Given the description of an element on the screen output the (x, y) to click on. 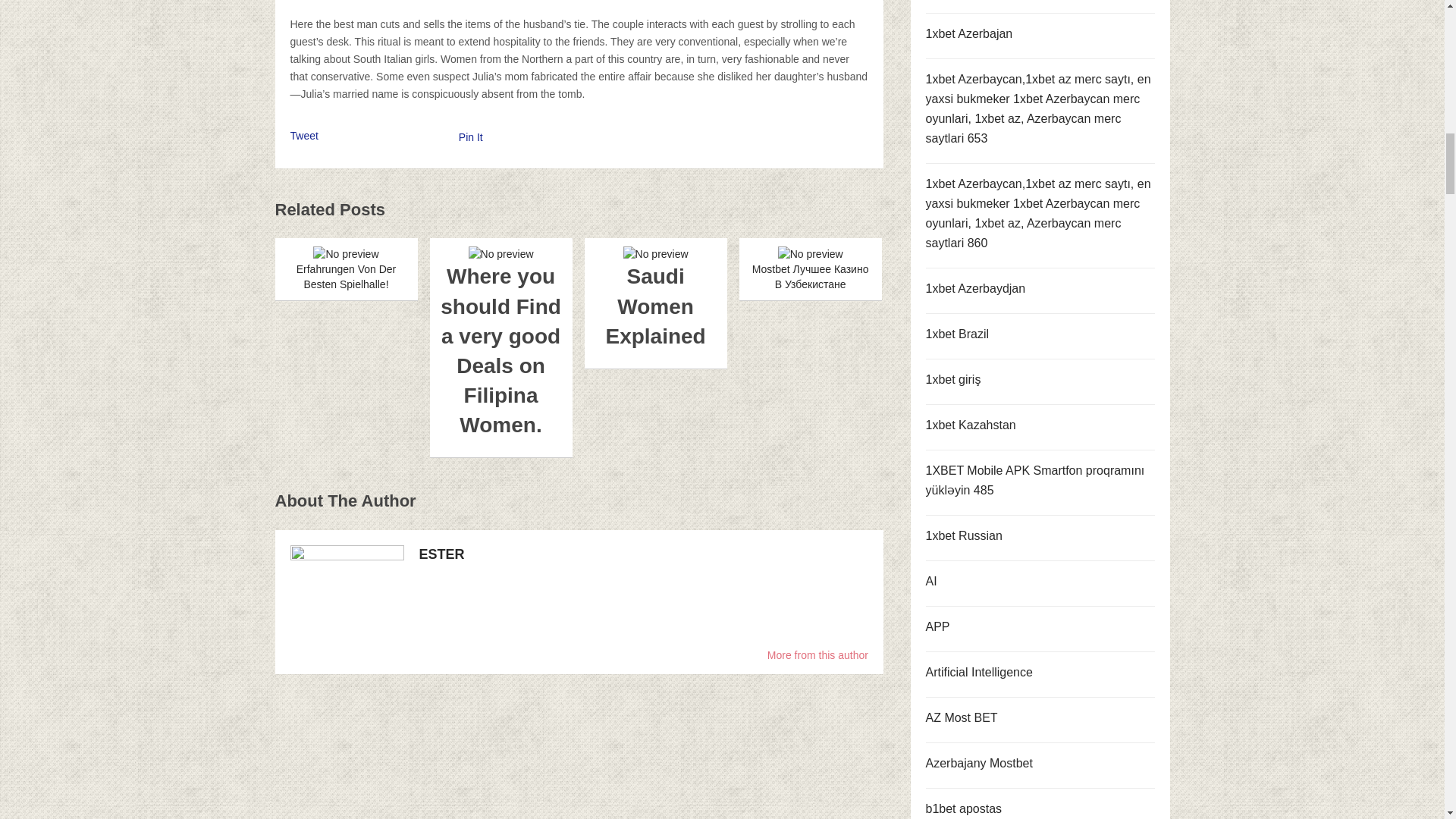
ESTER (441, 554)
Pin It (470, 137)
Saudi Women Explained (655, 298)
Erfahrungen Von Der Besten Spielhalle! (346, 268)
Erfahrungen Von Der Besten Spielhalle! (346, 268)
More from this author (817, 654)
Tweet (303, 135)
